Given the description of an element on the screen output the (x, y) to click on. 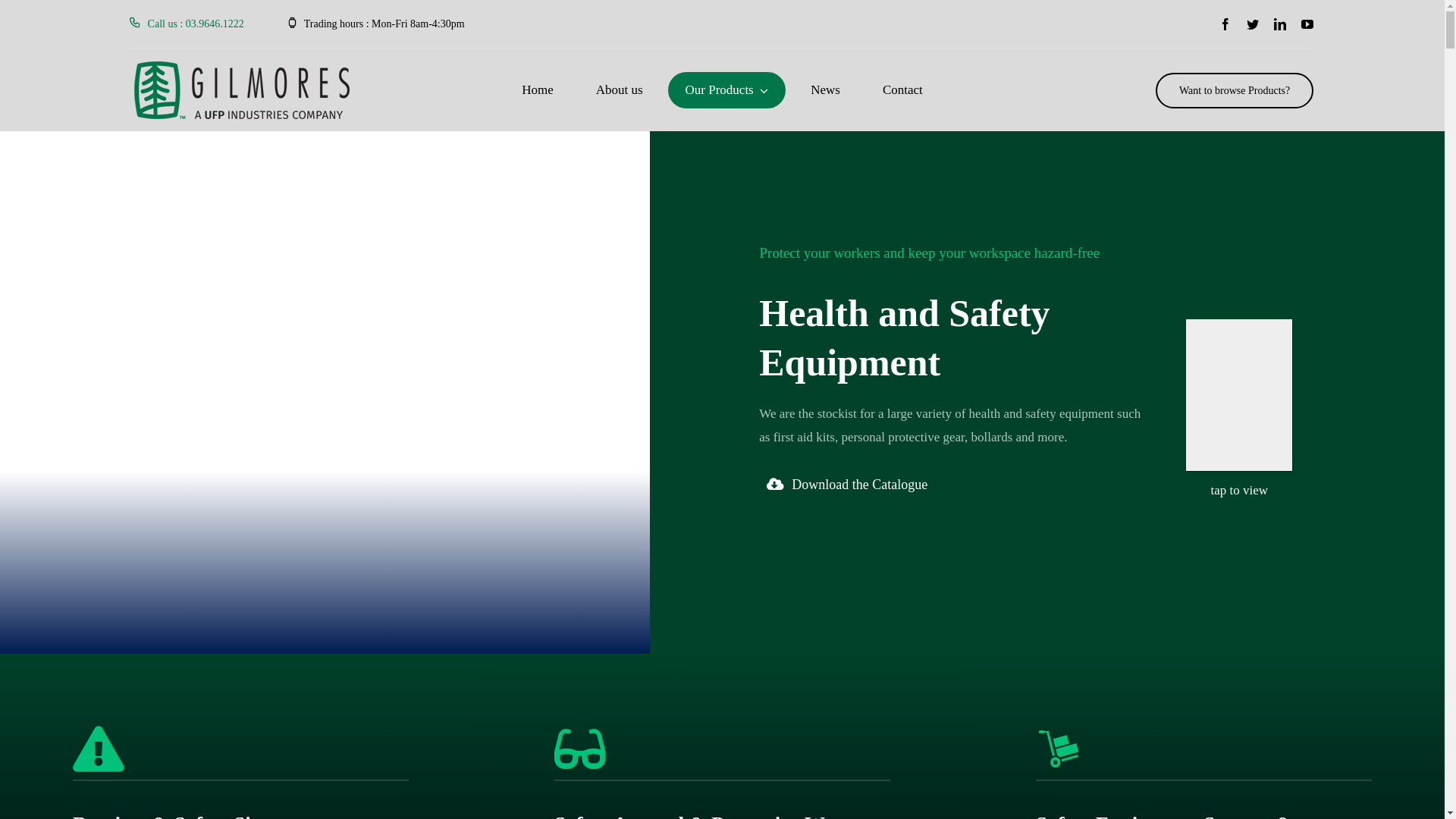
About us Element type: text (619, 90)
Home Element type: text (537, 90)
Our Products Element type: text (727, 90)
Trading hours : Mon-Fri 8am-4:30pm Element type: text (376, 23)
Contact Element type: text (902, 90)
Call us : 03.9646.1222 Element type: text (186, 23)
Download the Catalogue Element type: text (846, 484)
News Element type: text (825, 90)
Want to browse Products? Element type: text (1234, 90)
